Given the description of an element on the screen output the (x, y) to click on. 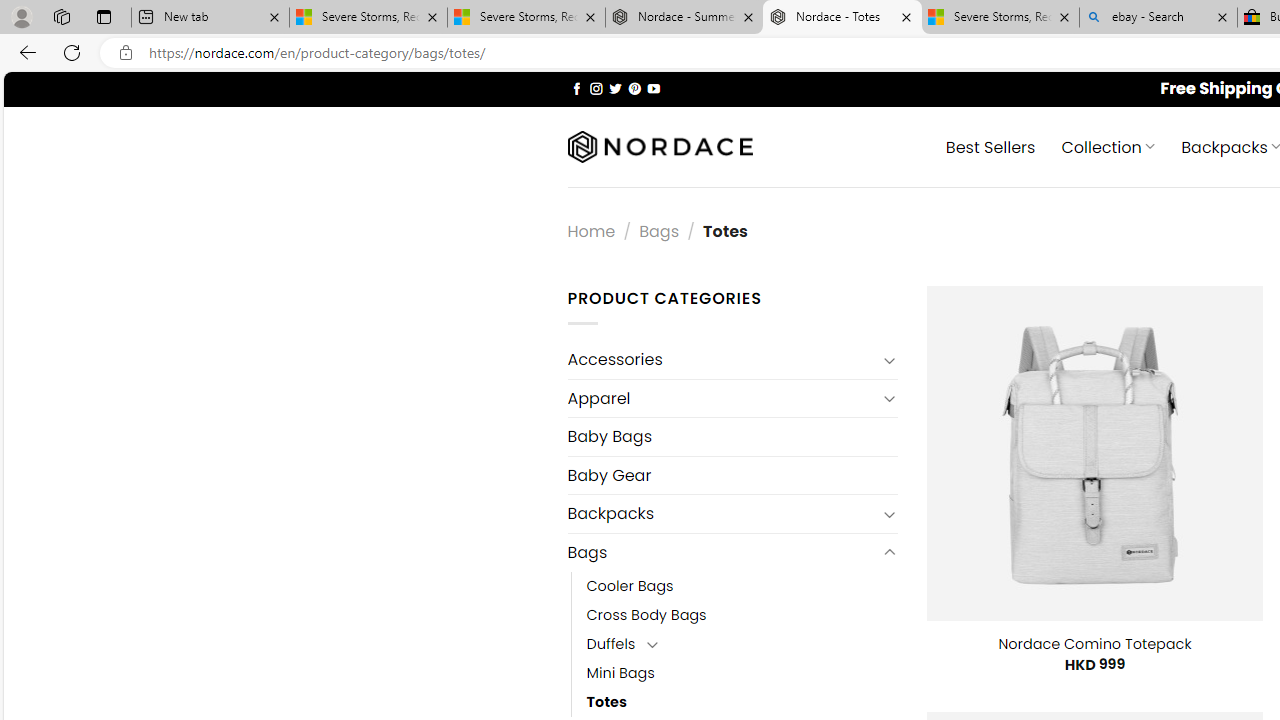
 Best Sellers (989, 146)
Nordace - Totes (842, 17)
Cooler Bags (742, 585)
Nordace Comino Totepack (1094, 643)
Backpacks (721, 514)
Baby Bags (732, 435)
